Given the description of an element on the screen output the (x, y) to click on. 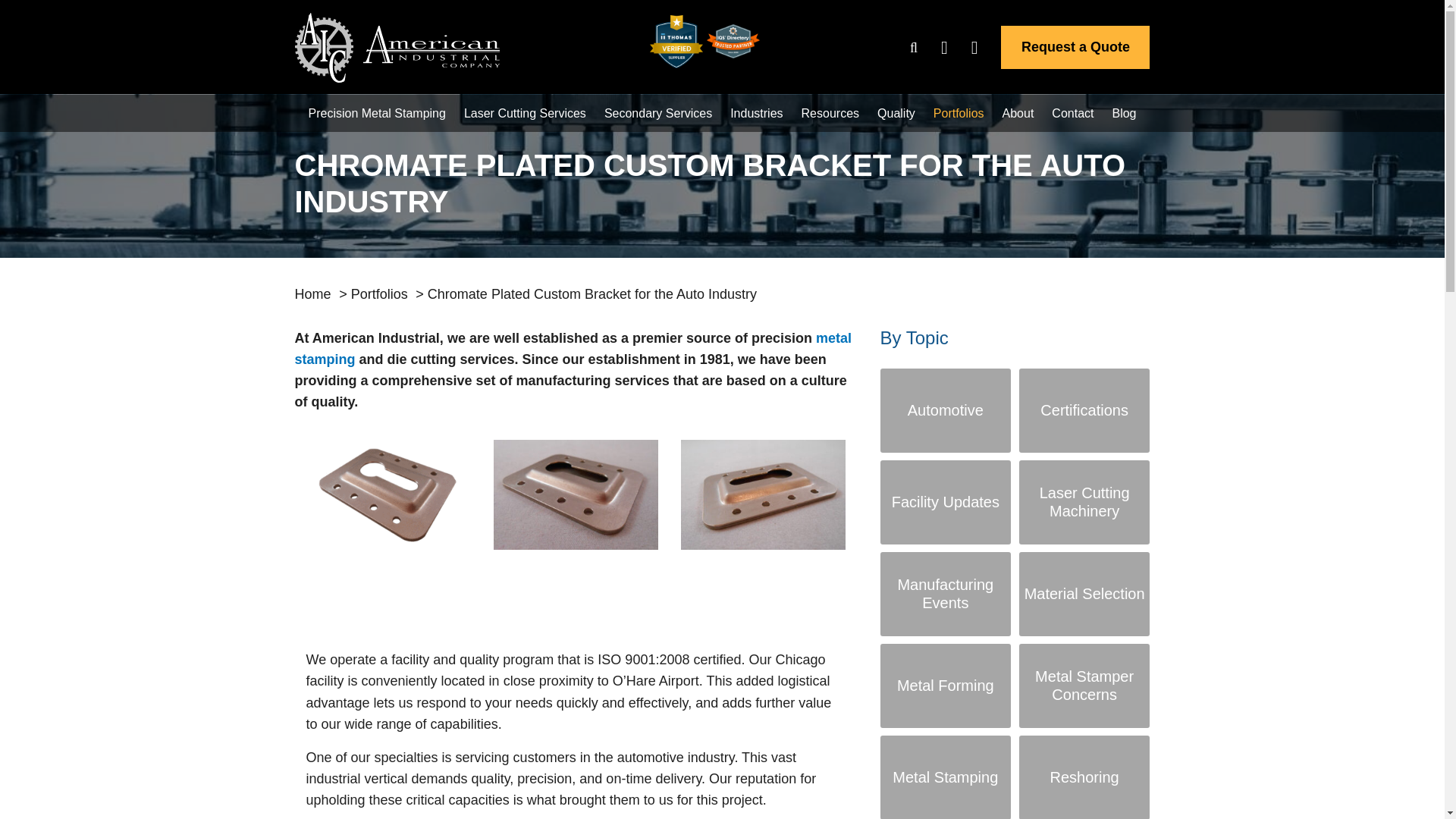
Industries (756, 113)
Precision Metal Stamping (376, 113)
Request a Quote (1075, 46)
American Industrial Company (396, 46)
IQS Directory Trusted Partner (733, 39)
Directory Trusted Partner (733, 41)
Precision Metal Stamping (376, 113)
Laser Cutting Services (525, 113)
Secondary Services (657, 113)
